Given the description of an element on the screen output the (x, y) to click on. 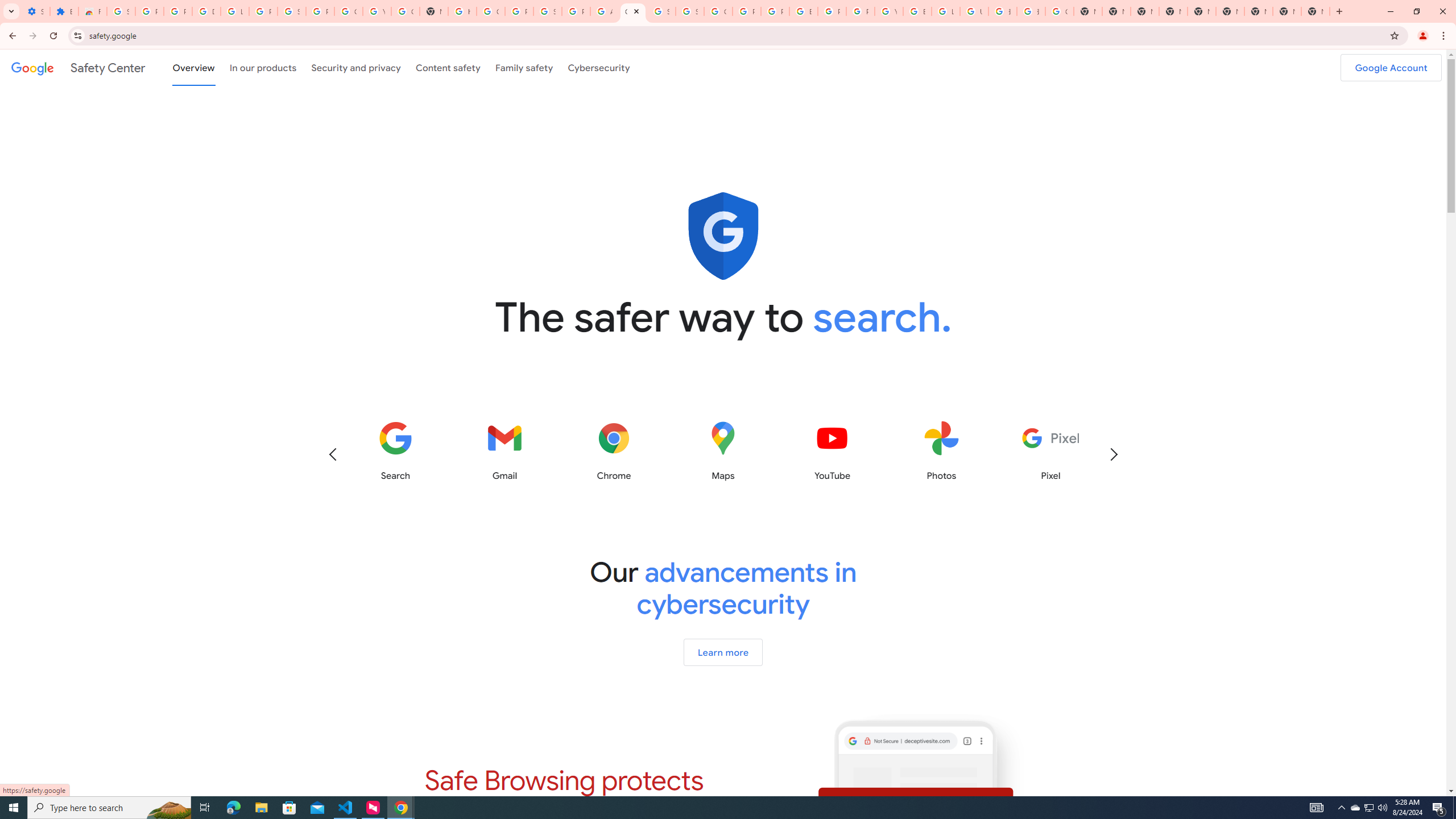
AutomationID: overview-products-carousel-desktop-4 (722, 451)
Privacy Help Center - Policies Help (774, 11)
New Tab (1315, 11)
Google Safety Center - Stay Safer Online (632, 11)
Learn how to find your photos - Google Photos Help (234, 11)
Previous (332, 453)
Google Account (1390, 67)
Reviews: Helix Fruit Jump Arcade Game (92, 11)
Settings - On startup (35, 11)
